Given the description of an element on the screen output the (x, y) to click on. 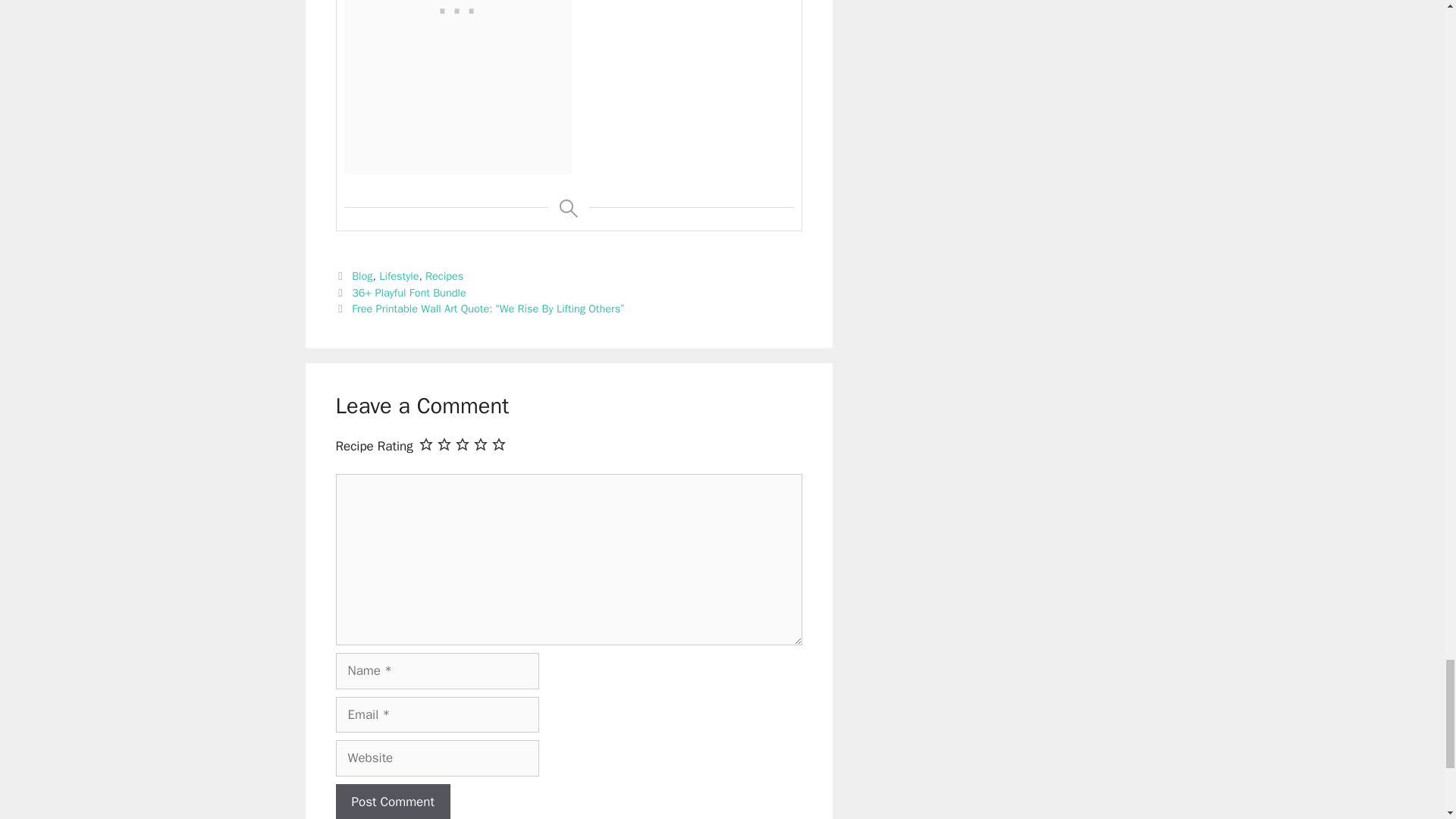
Blog (362, 275)
Post Comment (391, 801)
Post Comment (391, 801)
Recipes (444, 275)
Lifestyle (398, 275)
